Given the description of an element on the screen output the (x, y) to click on. 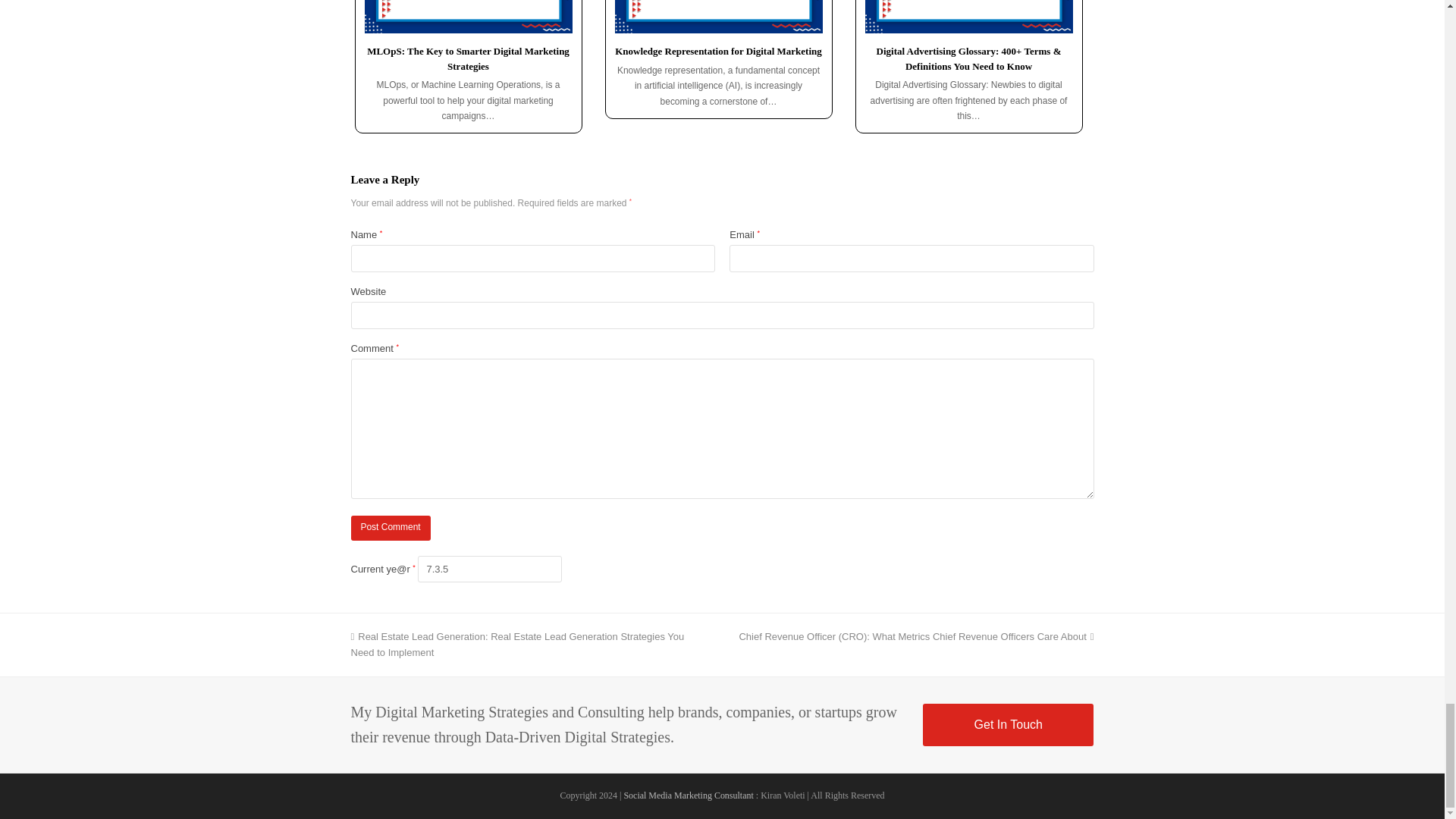
Social Media Marketing Consultant (687, 795)
Post Comment (389, 527)
Get In Touch (1008, 724)
Knowledge Representation for Digital Marketing (718, 16)
MLOpS: The Key to Smarter Digital Marketing Strategies (467, 58)
MLOpS: The Key to Smarter Digital Marketing Strategies (468, 16)
Knowledge Representation for Digital Marketing (718, 50)
7.3.5 (489, 569)
Post Comment (389, 527)
